Given the description of an element on the screen output the (x, y) to click on. 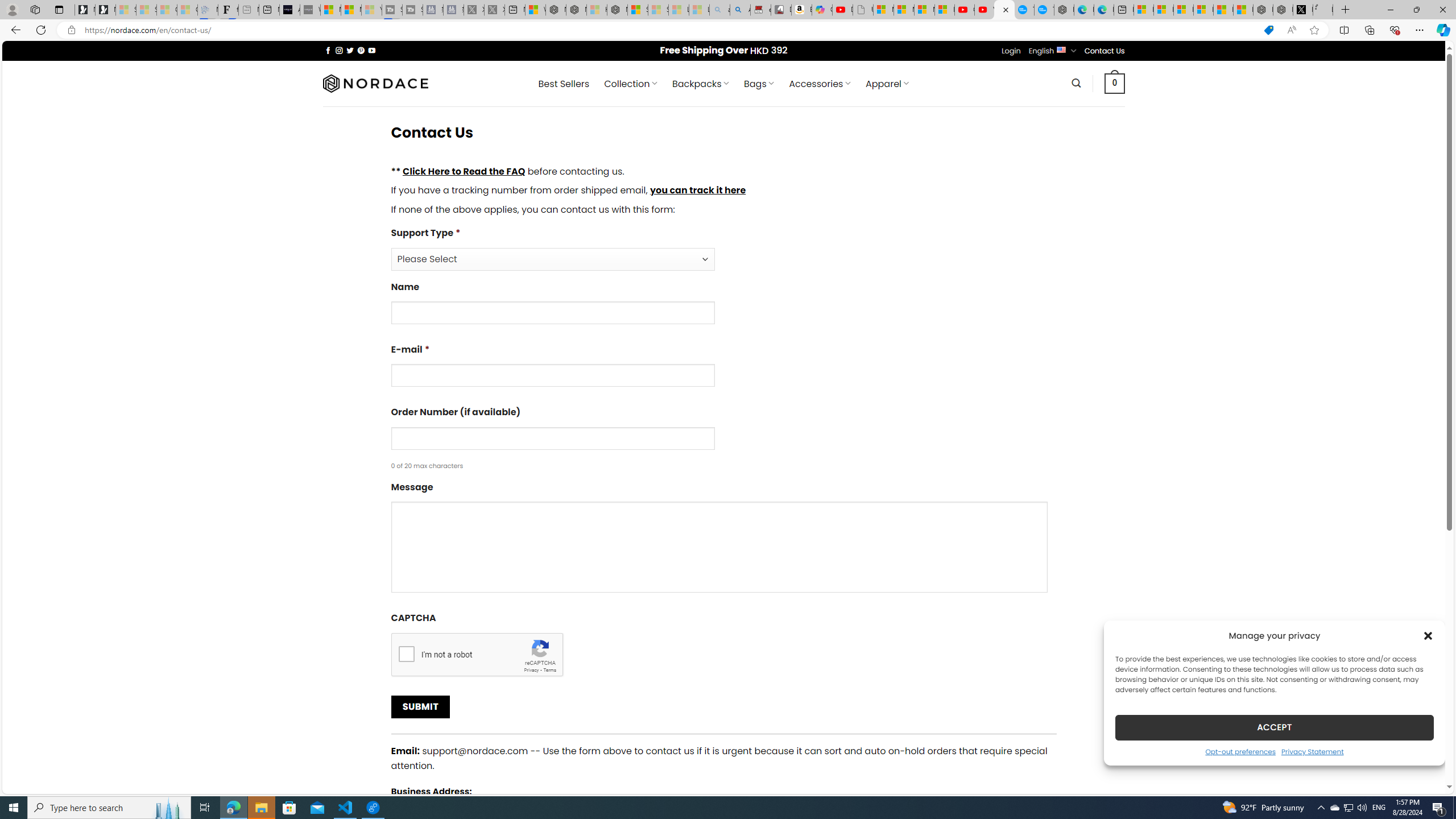
Support Type* (723, 248)
Privacy Statement (1312, 750)
E-mail* (552, 375)
Support Type* (552, 259)
